Given the description of an element on the screen output the (x, y) to click on. 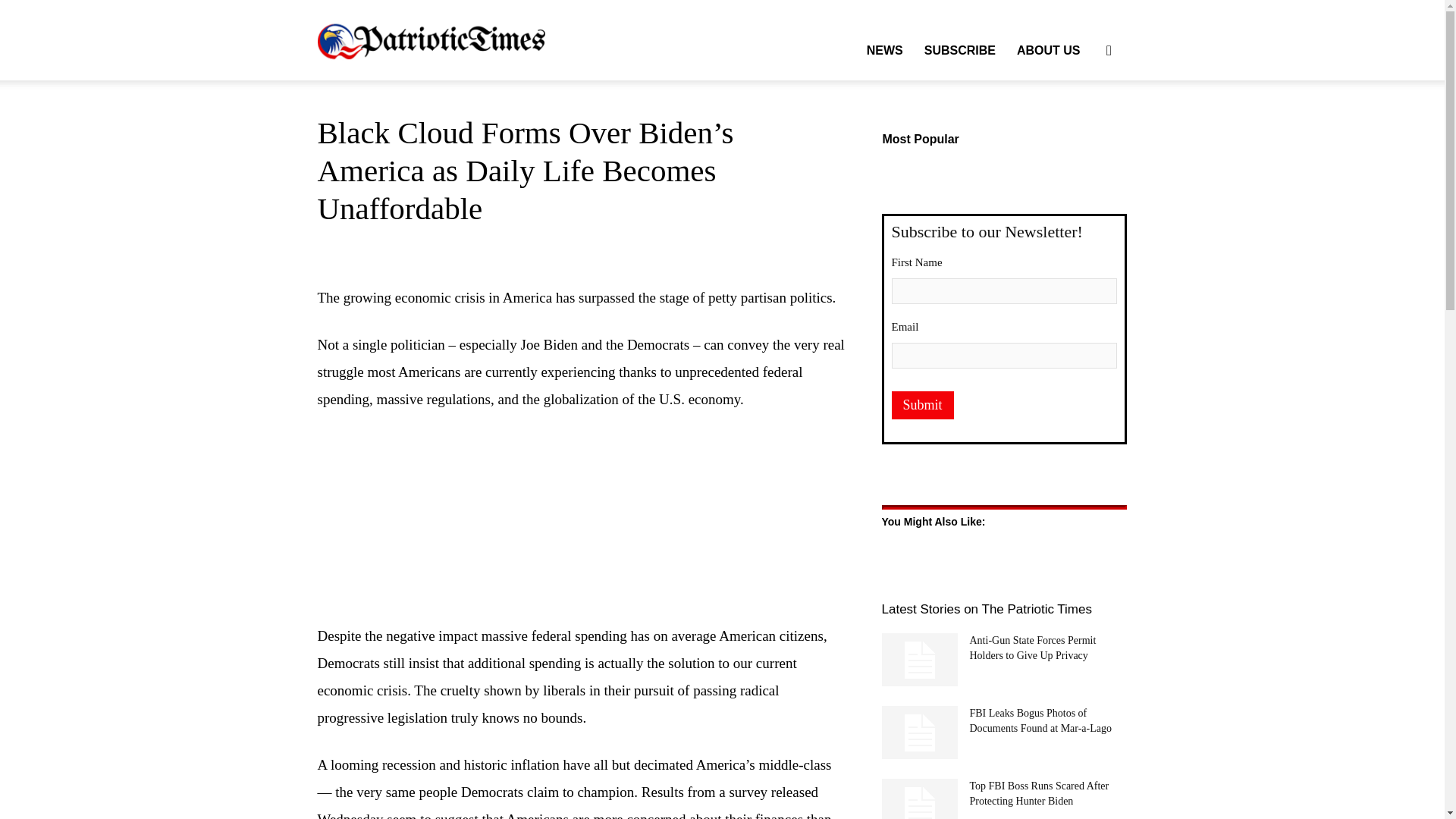
FBI Leaks Bogus Photos of Documents Found at Mar-a-Lago (1040, 720)
Latest Stories on The Patriotic Times (985, 608)
The Patriotic Times (430, 39)
SUBSCRIBE (960, 50)
Search (1085, 122)
FBI Leaks Bogus Photos of Documents Found at Mar-a-Lago (1040, 720)
FBI Leaks Bogus Photos of Documents Found at Mar-a-Lago (918, 732)
Top FBI Boss Runs Scared After Protecting Hunter Biden (1038, 793)
NEWS (885, 50)
Submit (922, 405)
Submit (922, 405)
Top FBI Boss Runs Scared After Protecting Hunter Biden (1038, 793)
Anti-Gun State Forces Permit Holders to Give Up Privacy (1032, 647)
ABOUT US (1048, 50)
Anti-Gun State Forces Permit Holders to Give Up Privacy (1032, 647)
